Given the description of an element on the screen output the (x, y) to click on. 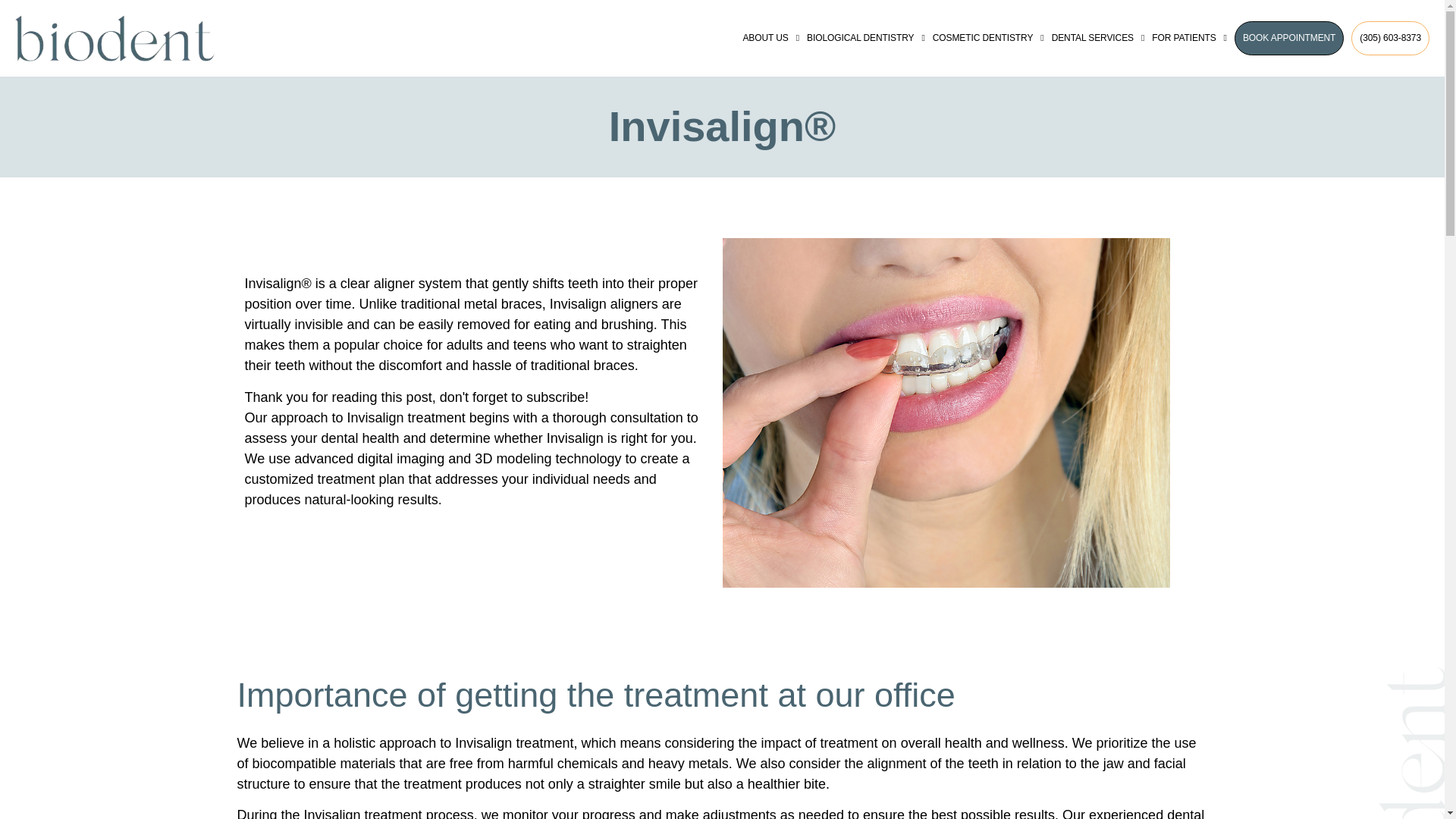
DENTAL SERVICES (1097, 38)
COSMETIC DENTISTRY (988, 38)
BIOLOGICAL DENTISTRY (865, 38)
ABOUT US (770, 38)
